Given the description of an element on the screen output the (x, y) to click on. 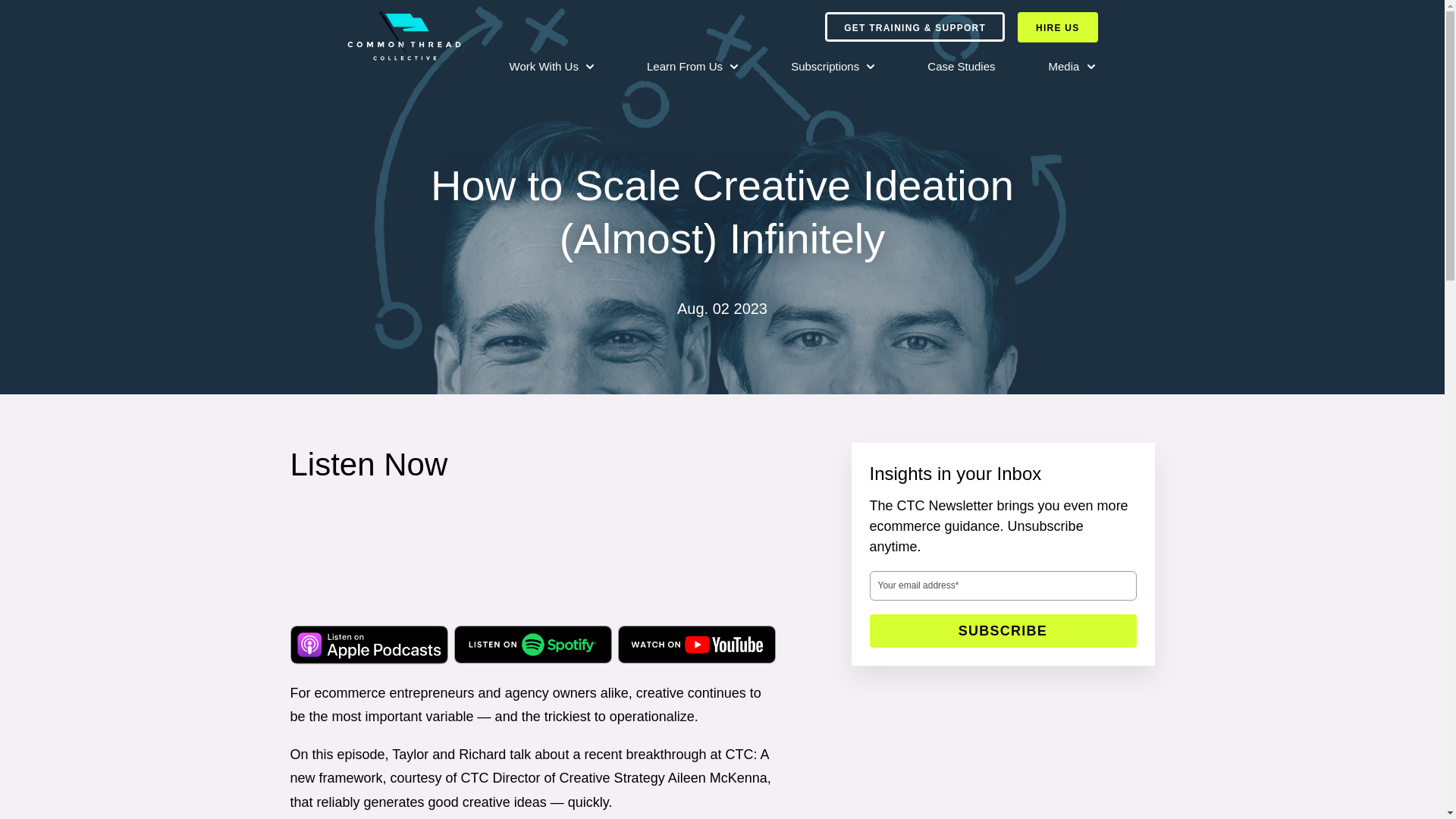
SUBSCRIBE (1002, 630)
Case Studies (961, 66)
Work With Us (552, 66)
HIRE US (1057, 27)
Learn From Us (691, 66)
Subscriptions (832, 66)
Media (1070, 66)
SUBSCRIBE (1002, 630)
